Given the description of an element on the screen output the (x, y) to click on. 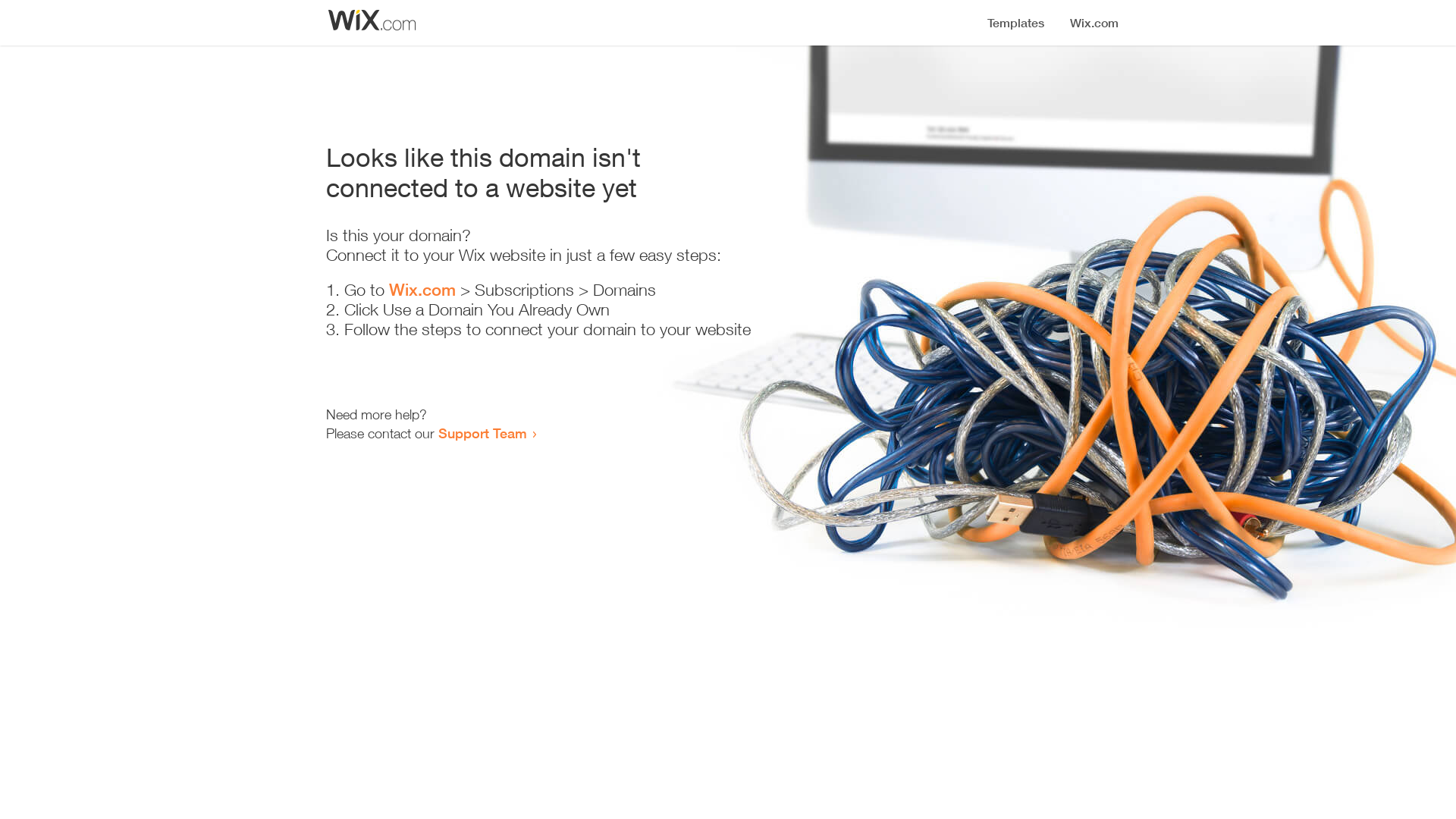
Wix.com Element type: text (422, 289)
Support Team Element type: text (482, 432)
